Given the description of an element on the screen output the (x, y) to click on. 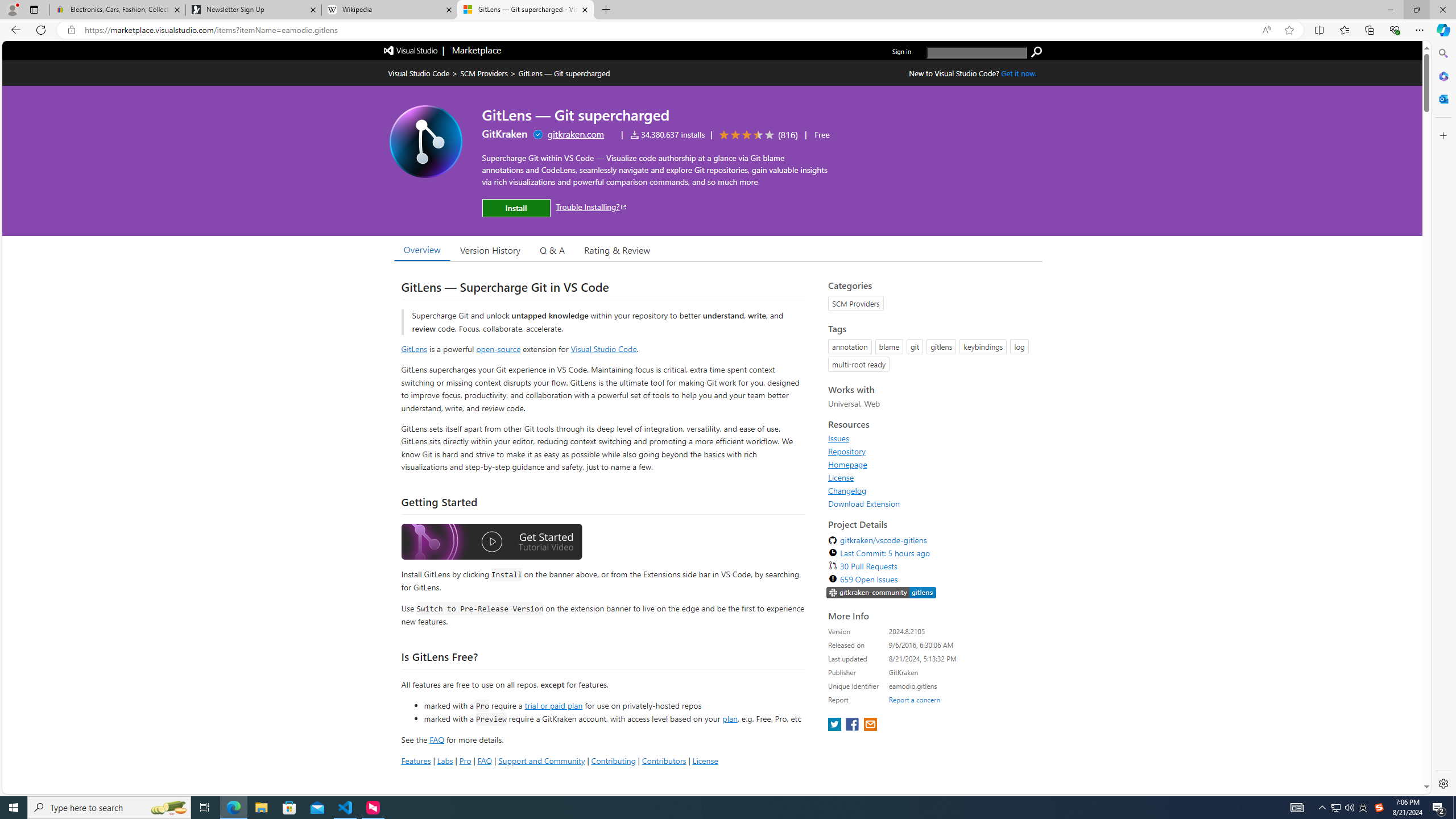
Version History (489, 249)
Watch the GitLens Getting Started video (491, 542)
Issues (838, 437)
Download Extension (863, 503)
FAQ (484, 760)
Install (515, 208)
Issues (931, 437)
